Given the description of an element on the screen output the (x, y) to click on. 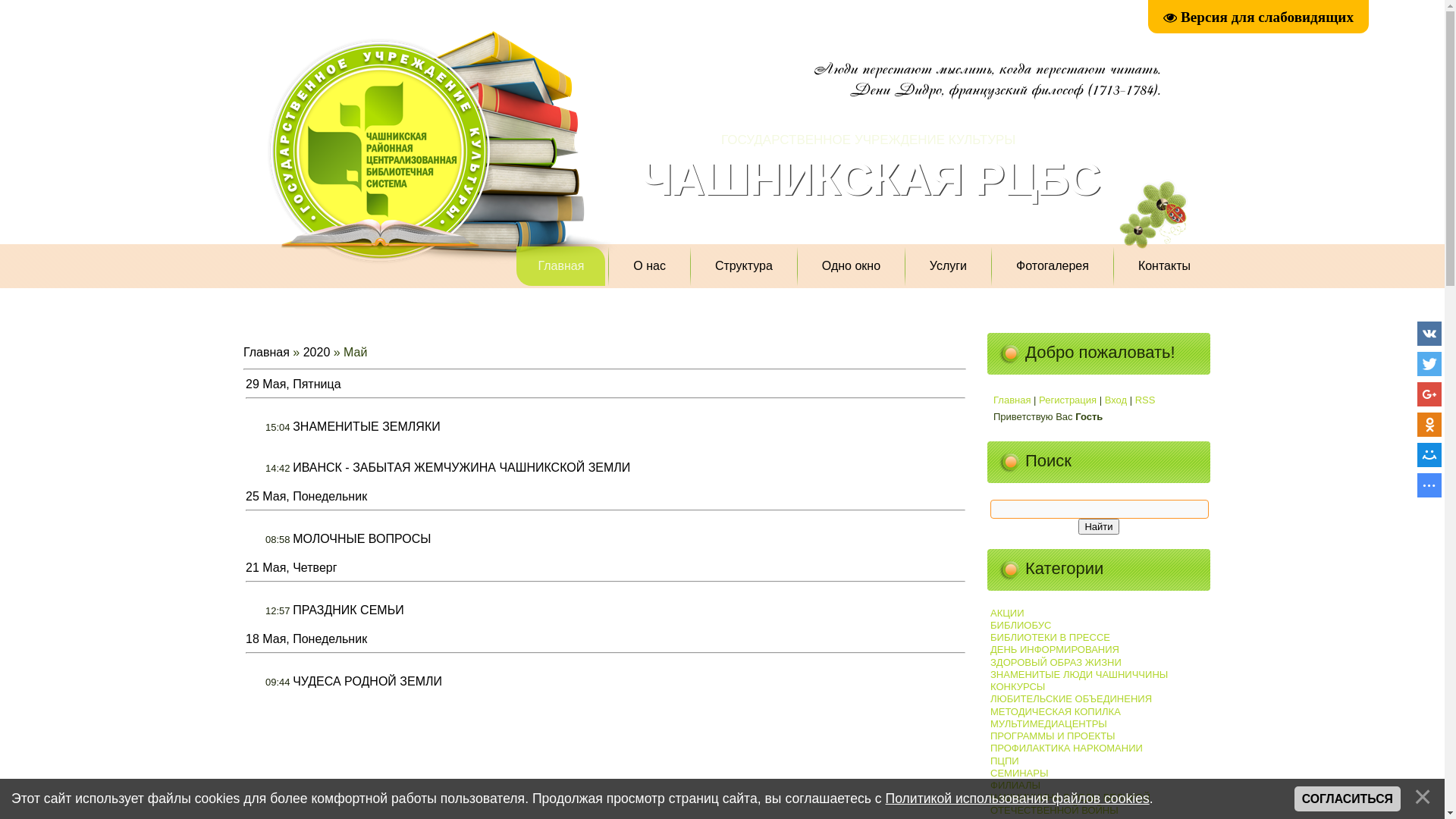
2020 Element type: text (316, 351)
RSS Element type: text (1145, 399)
